Given the description of an element on the screen output the (x, y) to click on. 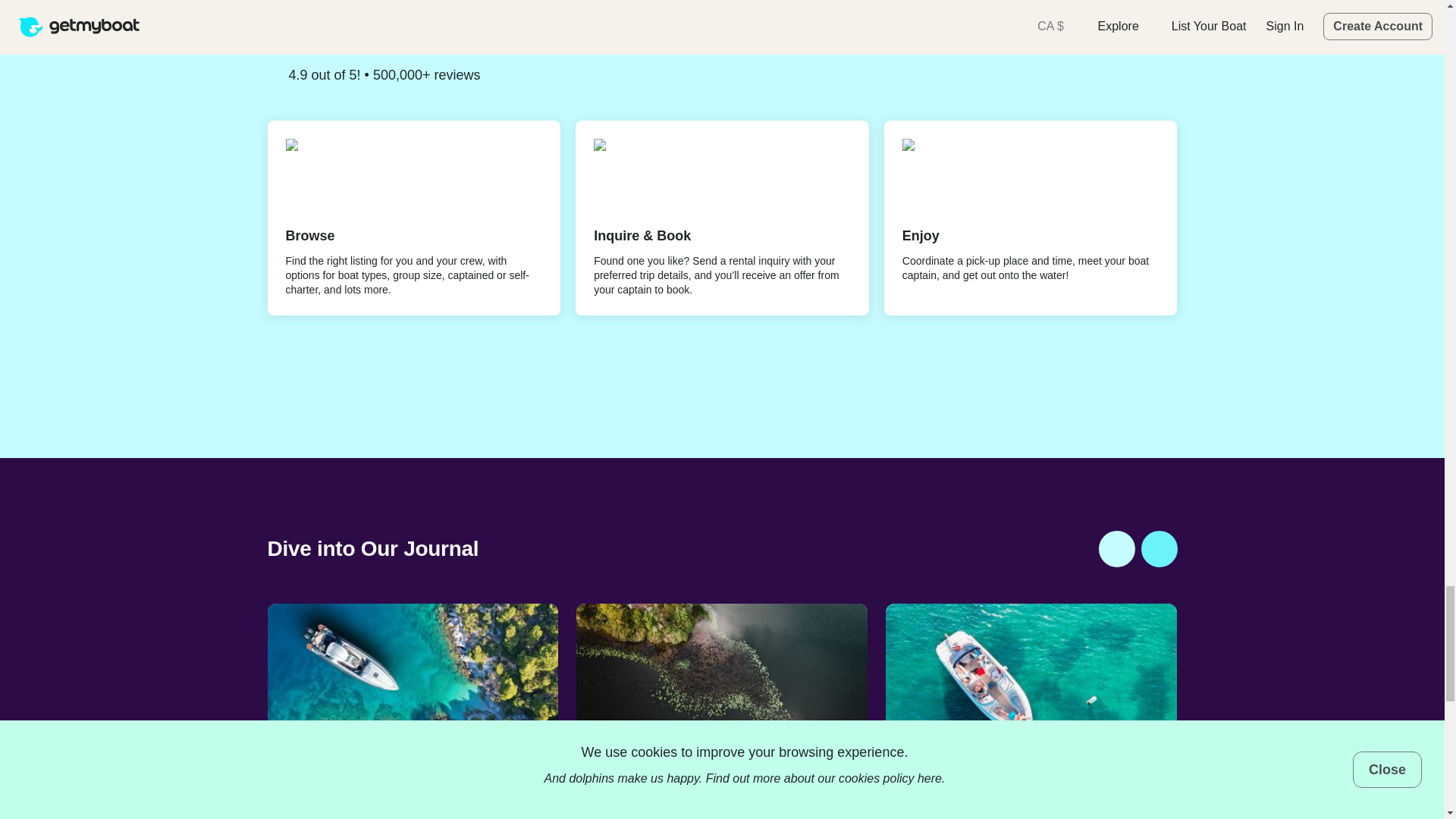
Back (1115, 548)
Download on the App Store (317, 368)
Get it on Google Play (432, 368)
Next (1158, 548)
